Given the description of an element on the screen output the (x, y) to click on. 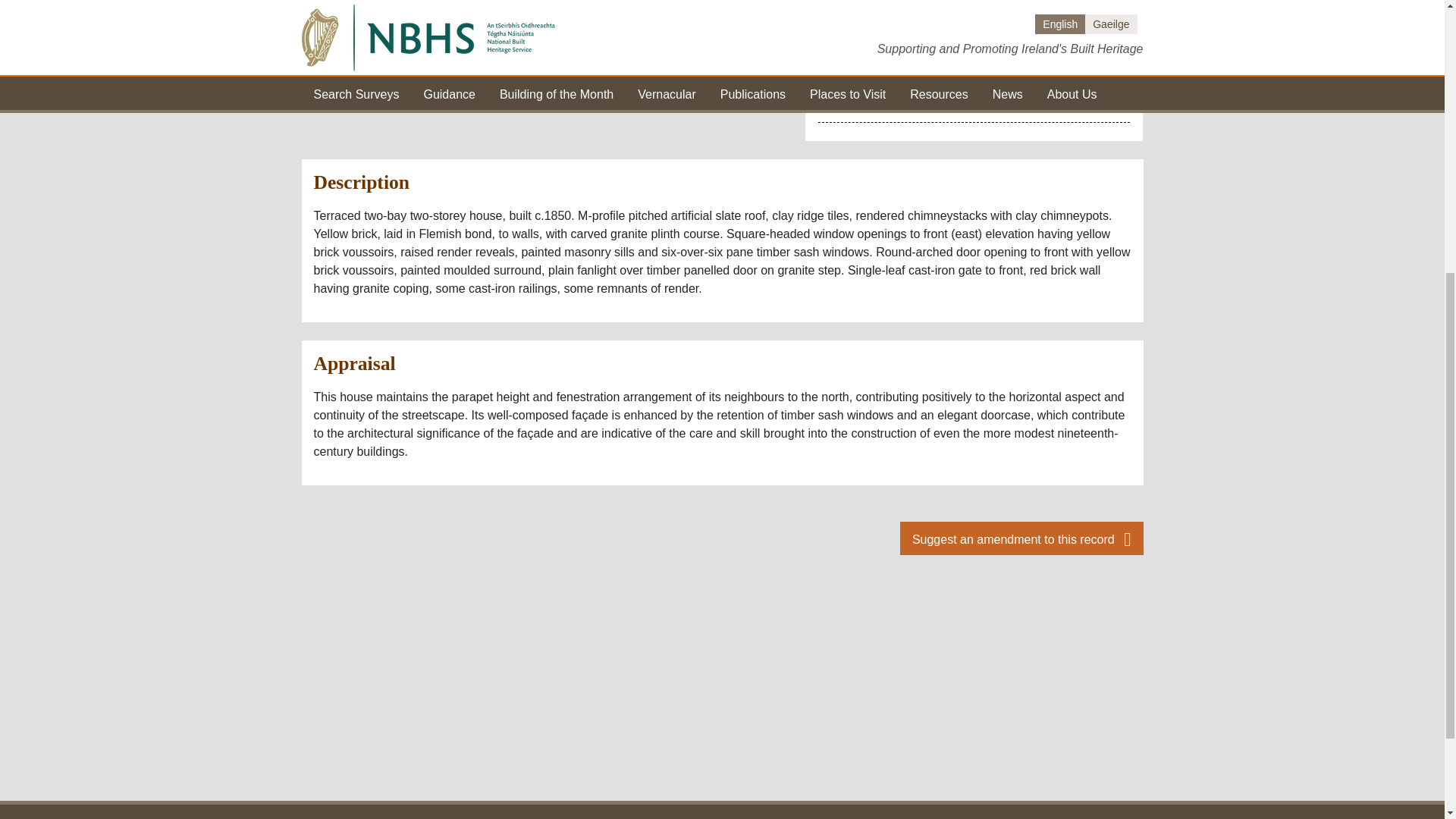
View on map (708, 14)
Suggest an amendment to this record (1020, 538)
